Given the description of an element on the screen output the (x, y) to click on. 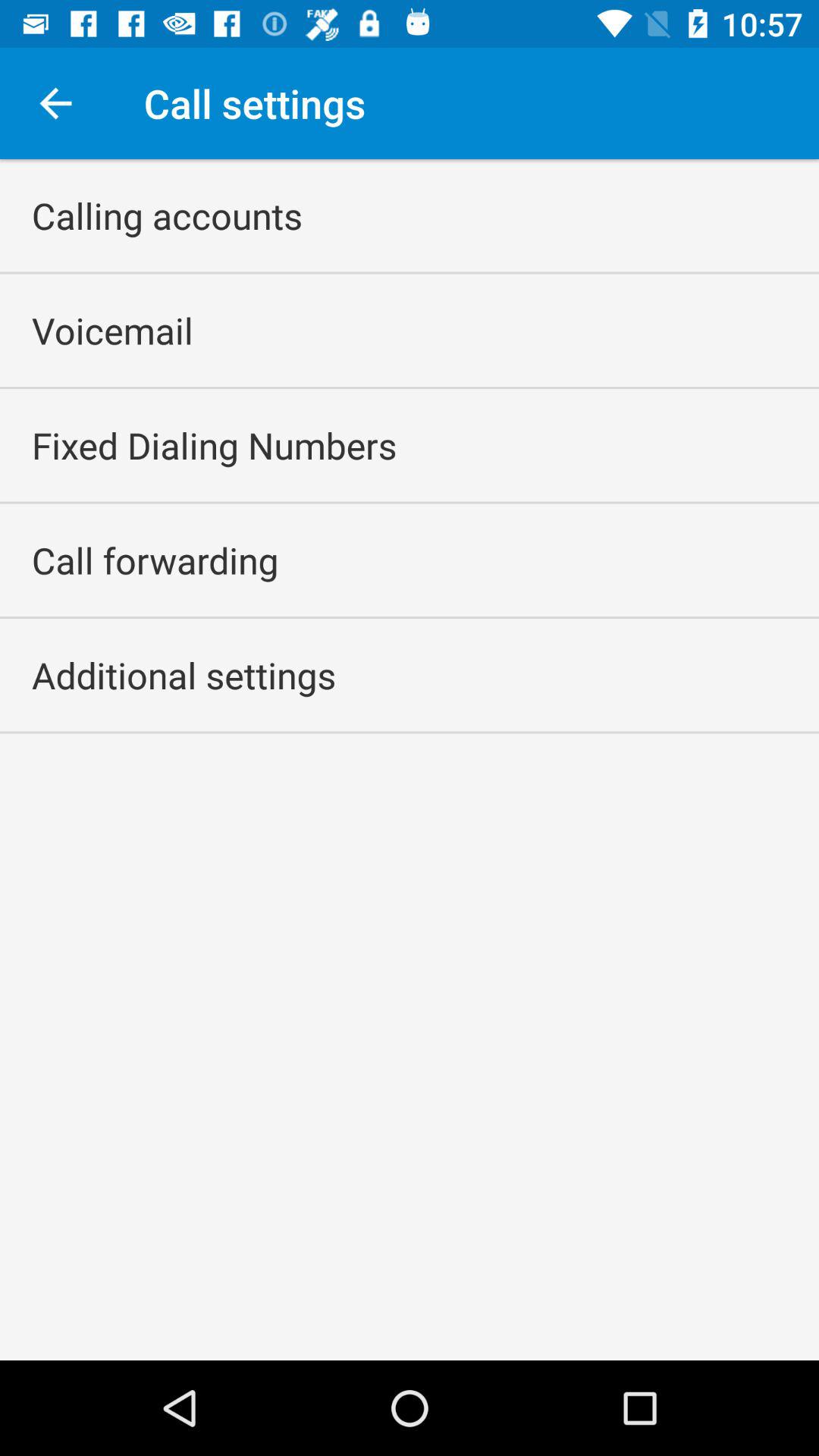
turn off call forwarding icon (154, 559)
